Given the description of an element on the screen output the (x, y) to click on. 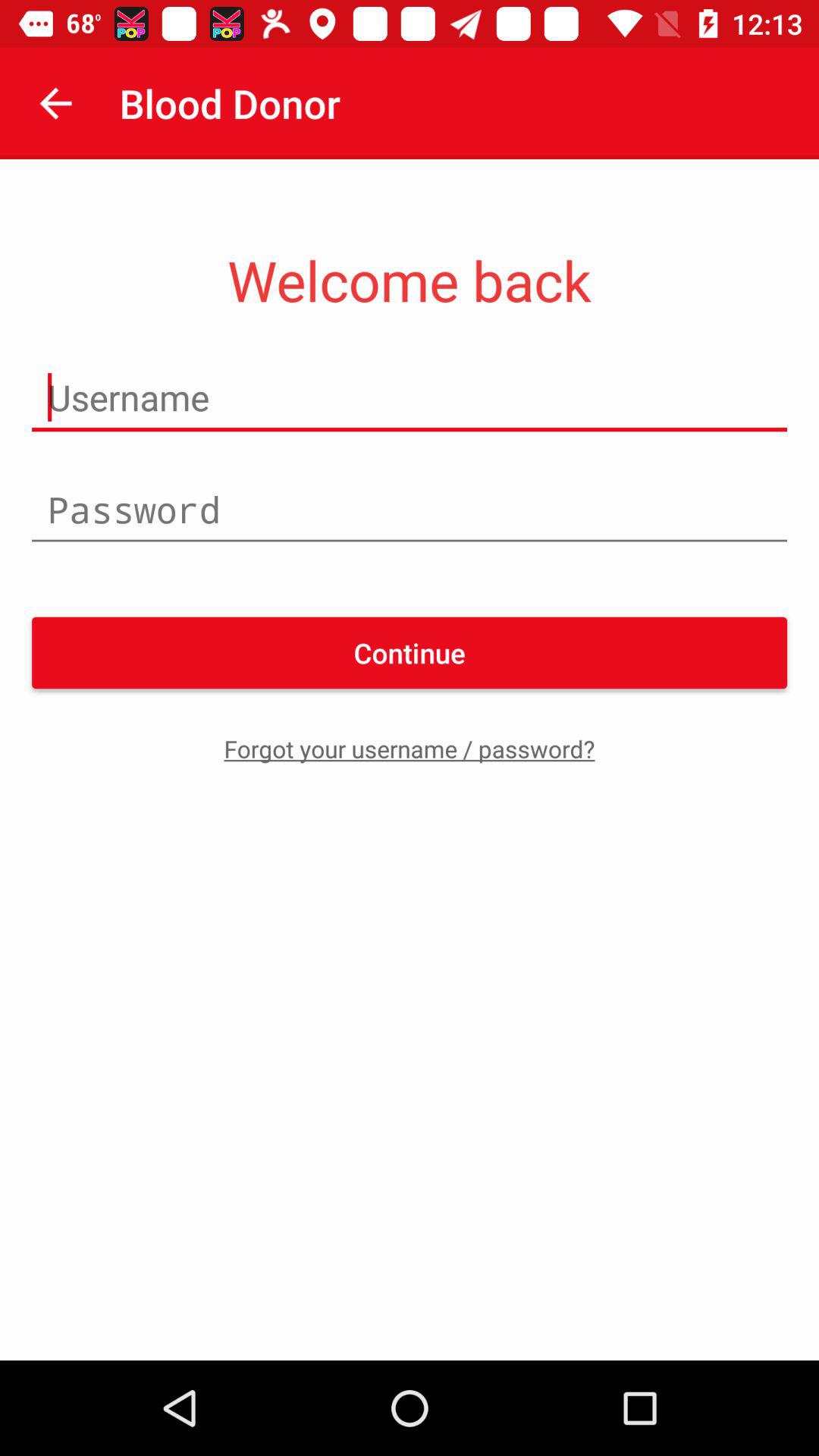
select the item above welcome back icon (55, 103)
